Given the description of an element on the screen output the (x, y) to click on. 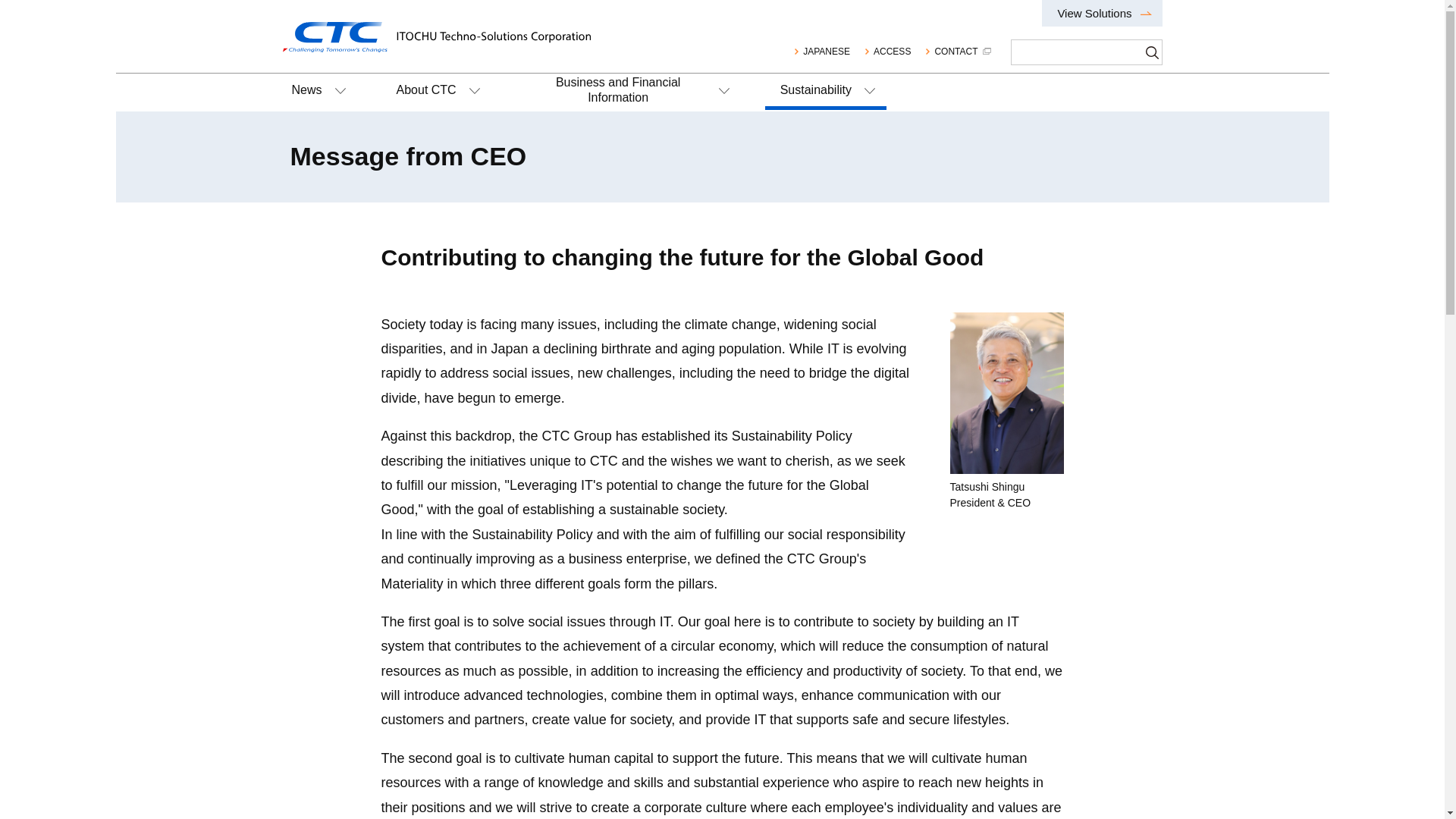
ACCESS (886, 51)
About CTC (436, 92)
View Solutions (1101, 13)
CONTACT (958, 51)
JAPANESE (821, 51)
Site search (1076, 51)
Business and Financial Information (628, 92)
News (316, 92)
